Given the description of an element on the screen output the (x, y) to click on. 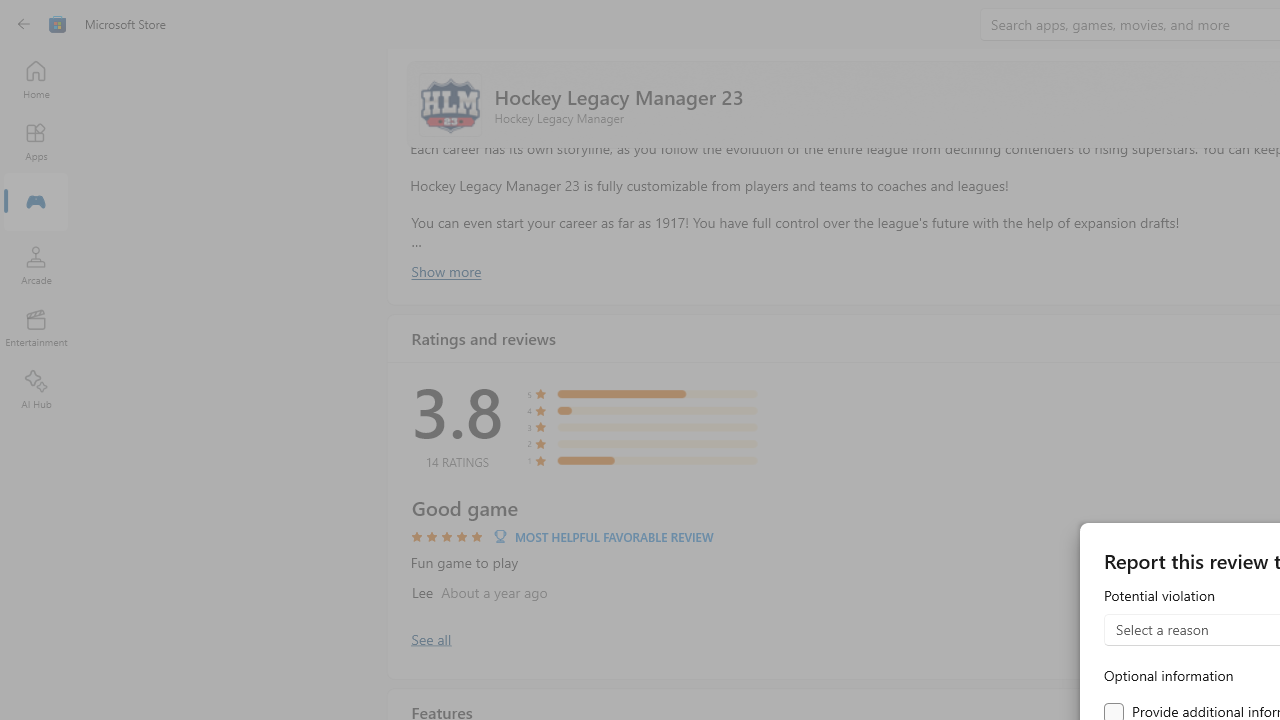
Arcade (35, 265)
Entertainment (35, 327)
AI Hub (35, 390)
Back (24, 24)
Class: Image (58, 24)
Home (35, 79)
Show more (445, 271)
Apps (35, 141)
Show all ratings and reviews (430, 637)
Gaming (35, 203)
